Given the description of an element on the screen output the (x, y) to click on. 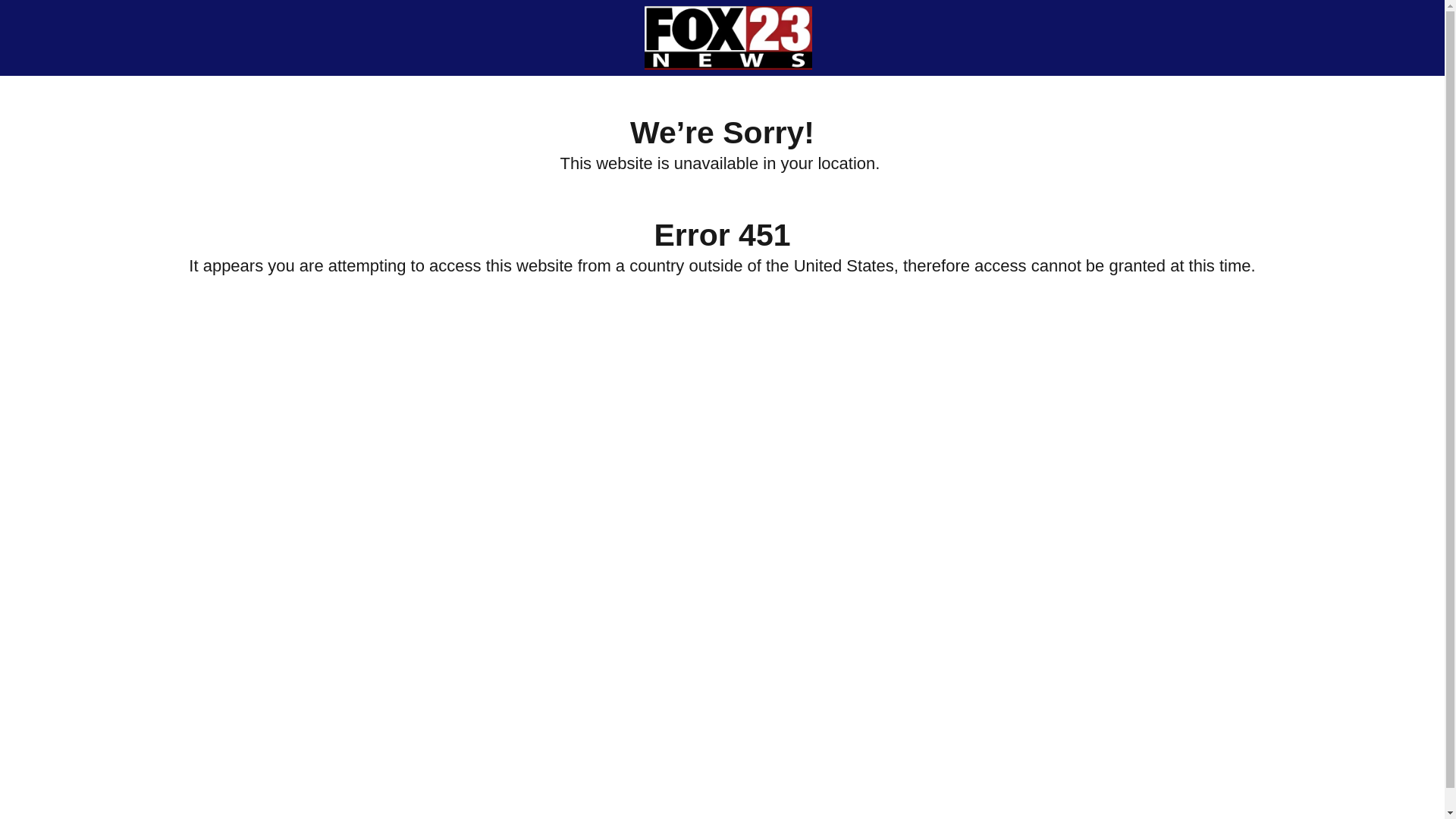
FOX23 News Logo (727, 37)
